Given the description of an element on the screen output the (x, y) to click on. 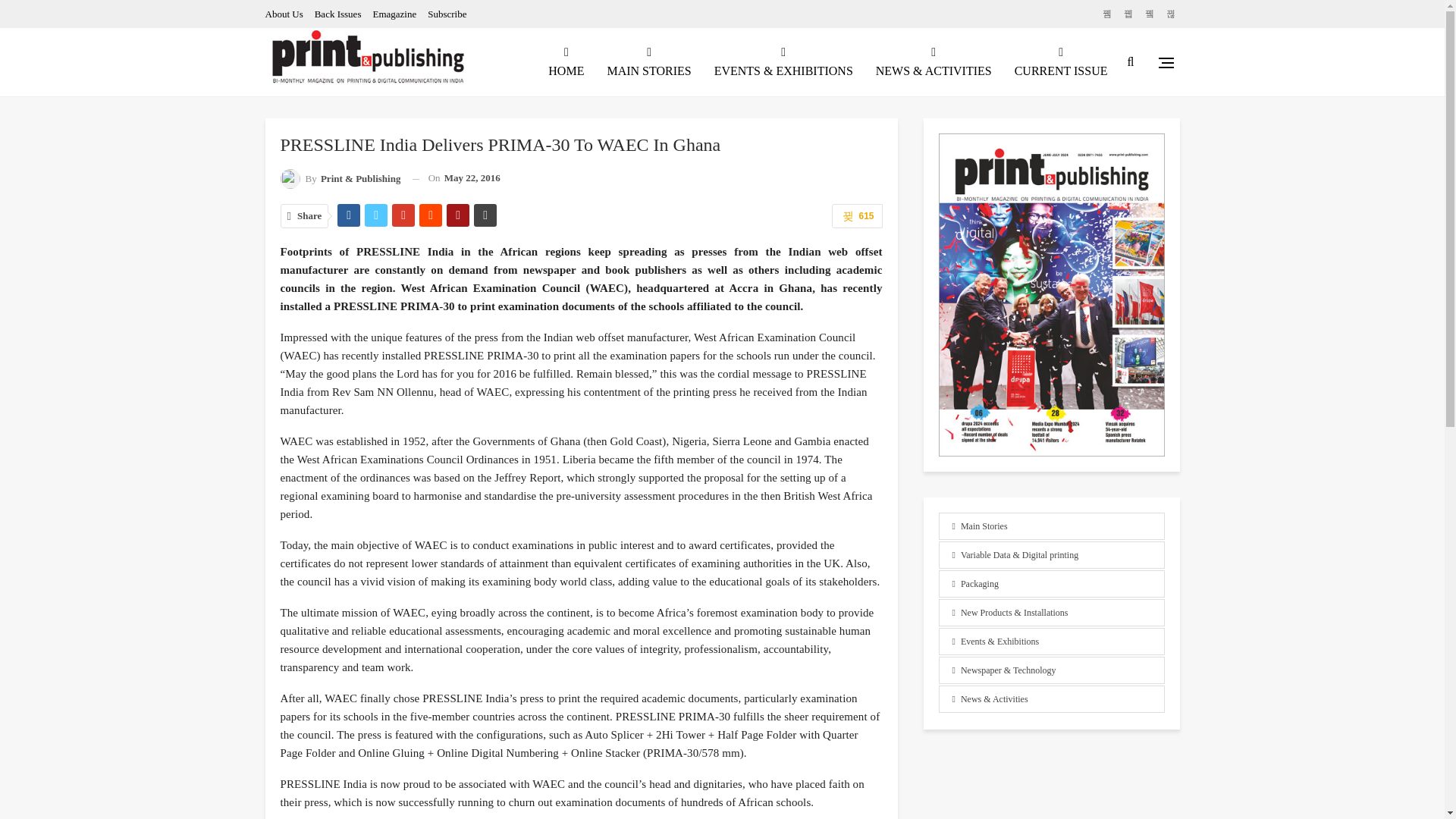
About Us (283, 13)
CURRENT ISSUE (1061, 61)
MAIN STORIES (648, 61)
Emagazine (394, 13)
Subscribe (446, 13)
Back Issues (337, 13)
Browse Author Articles (341, 178)
